Given the description of an element on the screen output the (x, y) to click on. 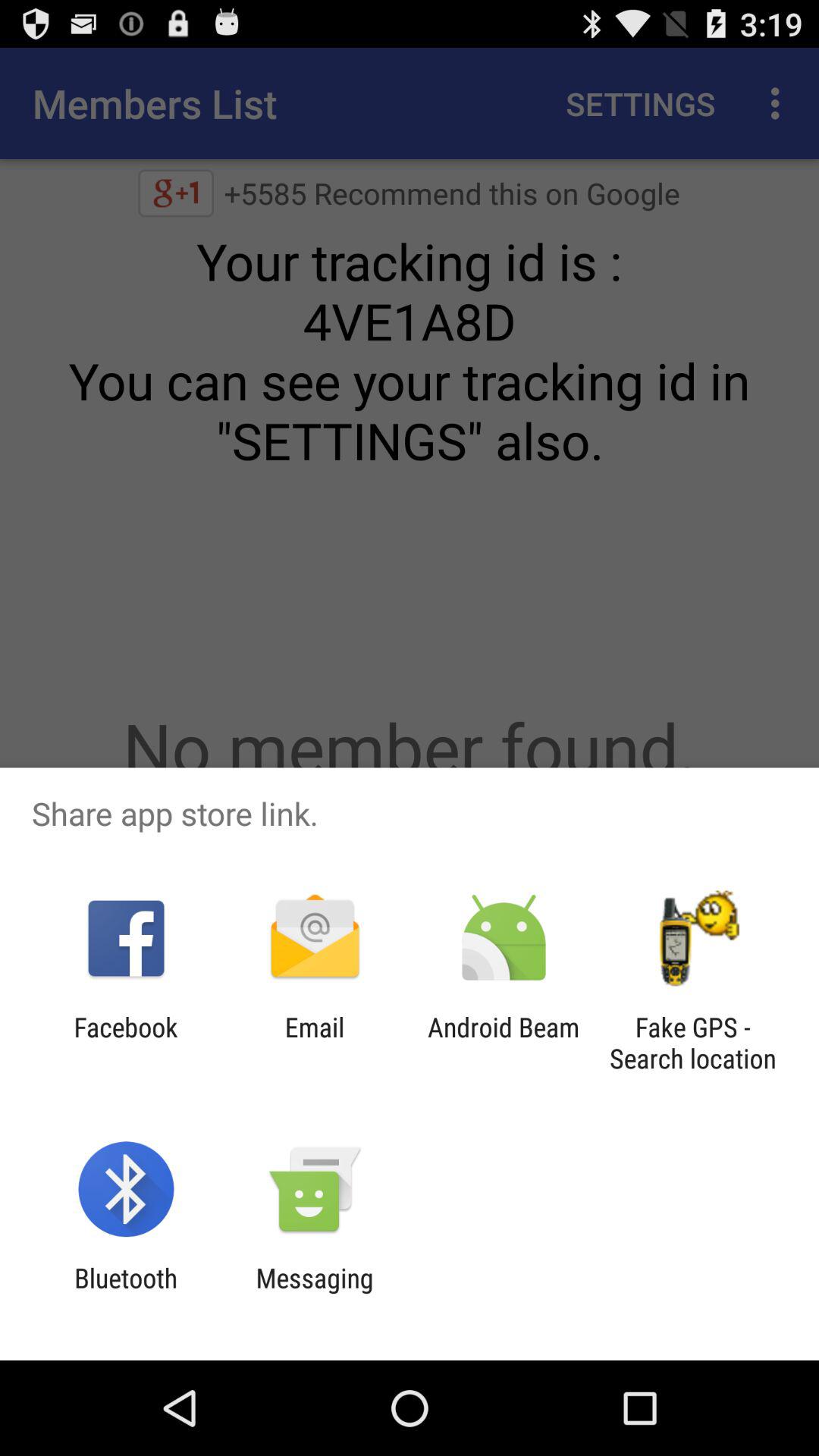
turn on app next to facebook icon (314, 1042)
